Given the description of an element on the screen output the (x, y) to click on. 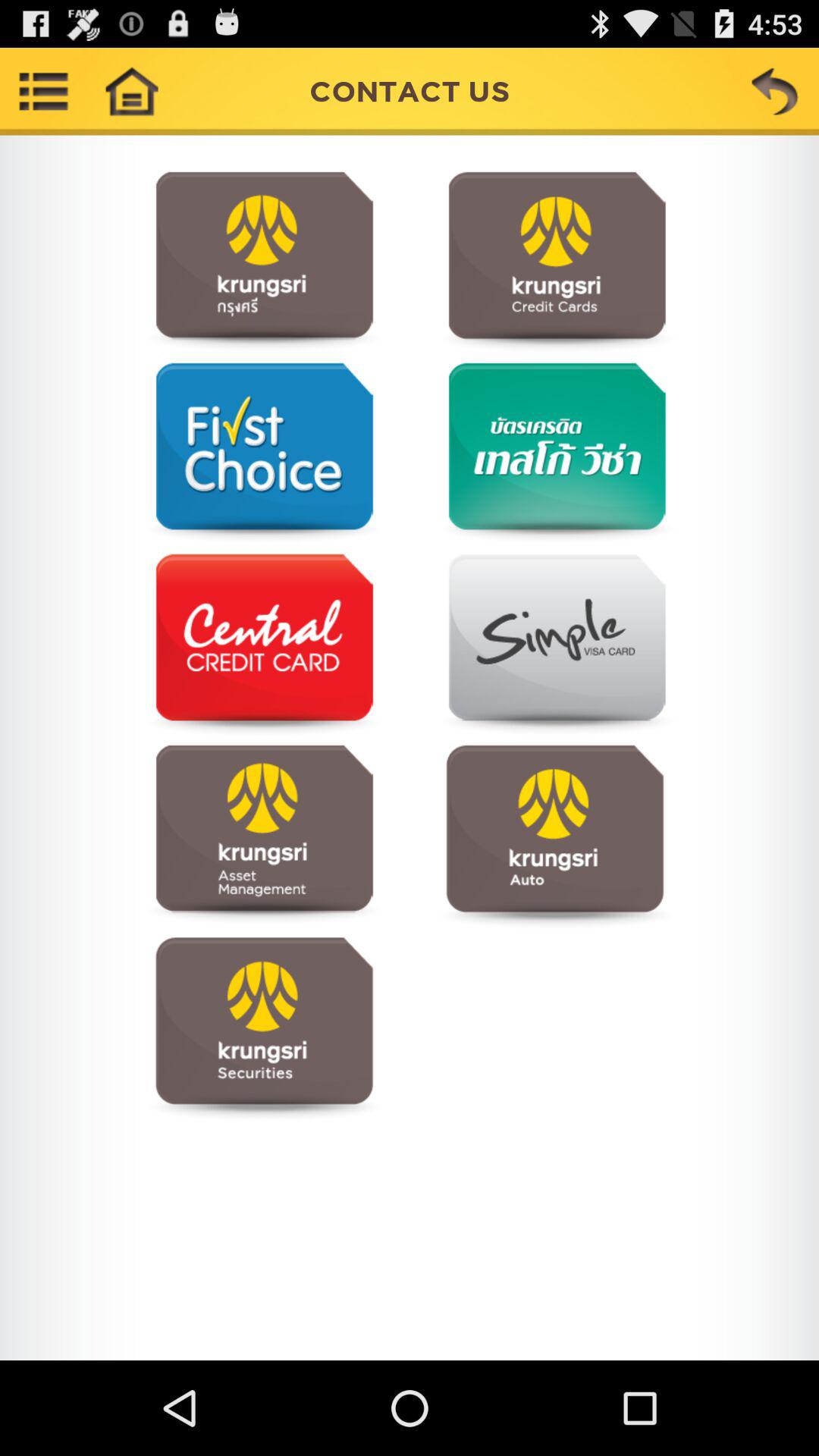
open first choice (263, 453)
